Given the description of an element on the screen output the (x, y) to click on. 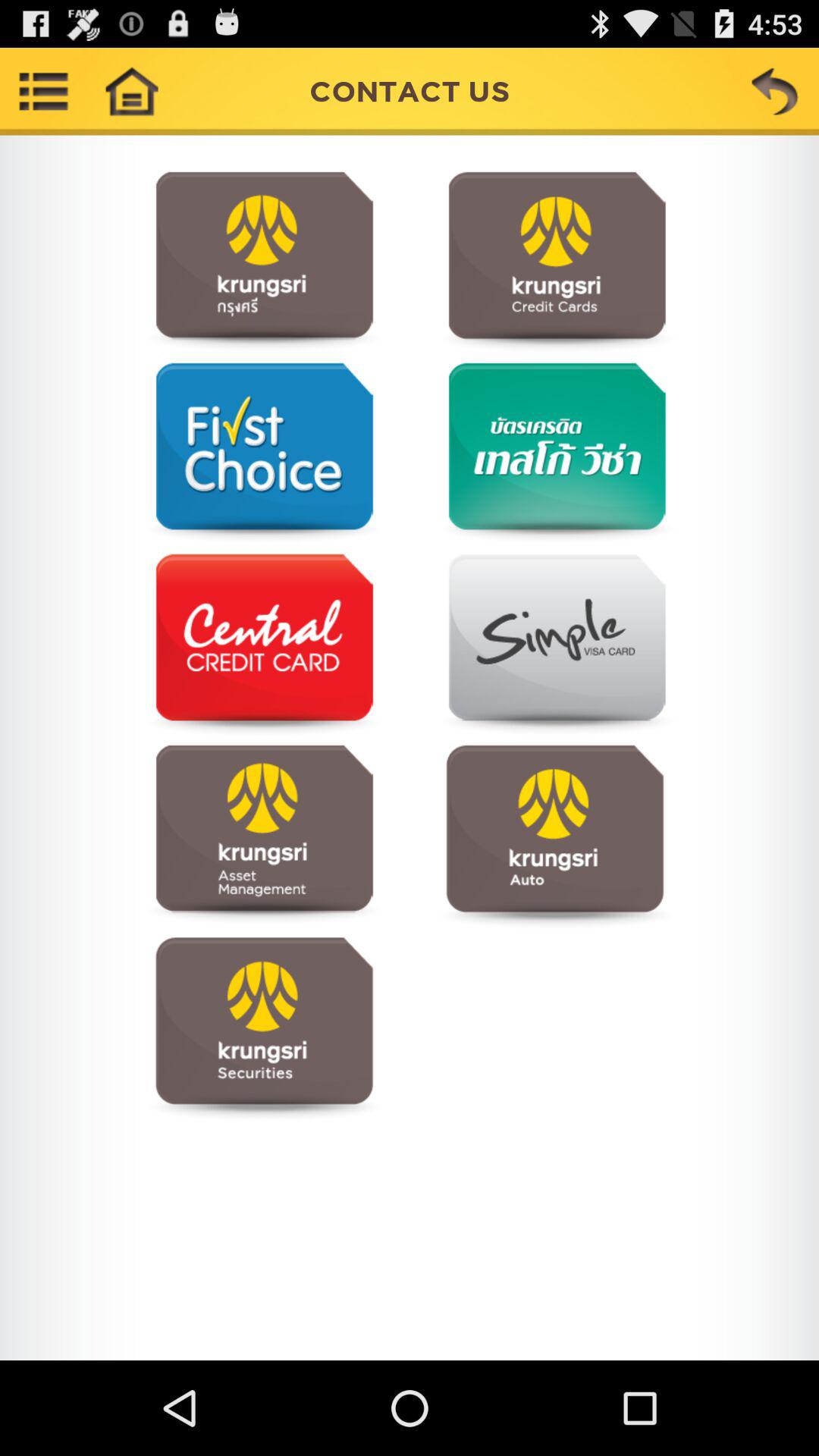
open first choice (263, 453)
